Given the description of an element on the screen output the (x, y) to click on. 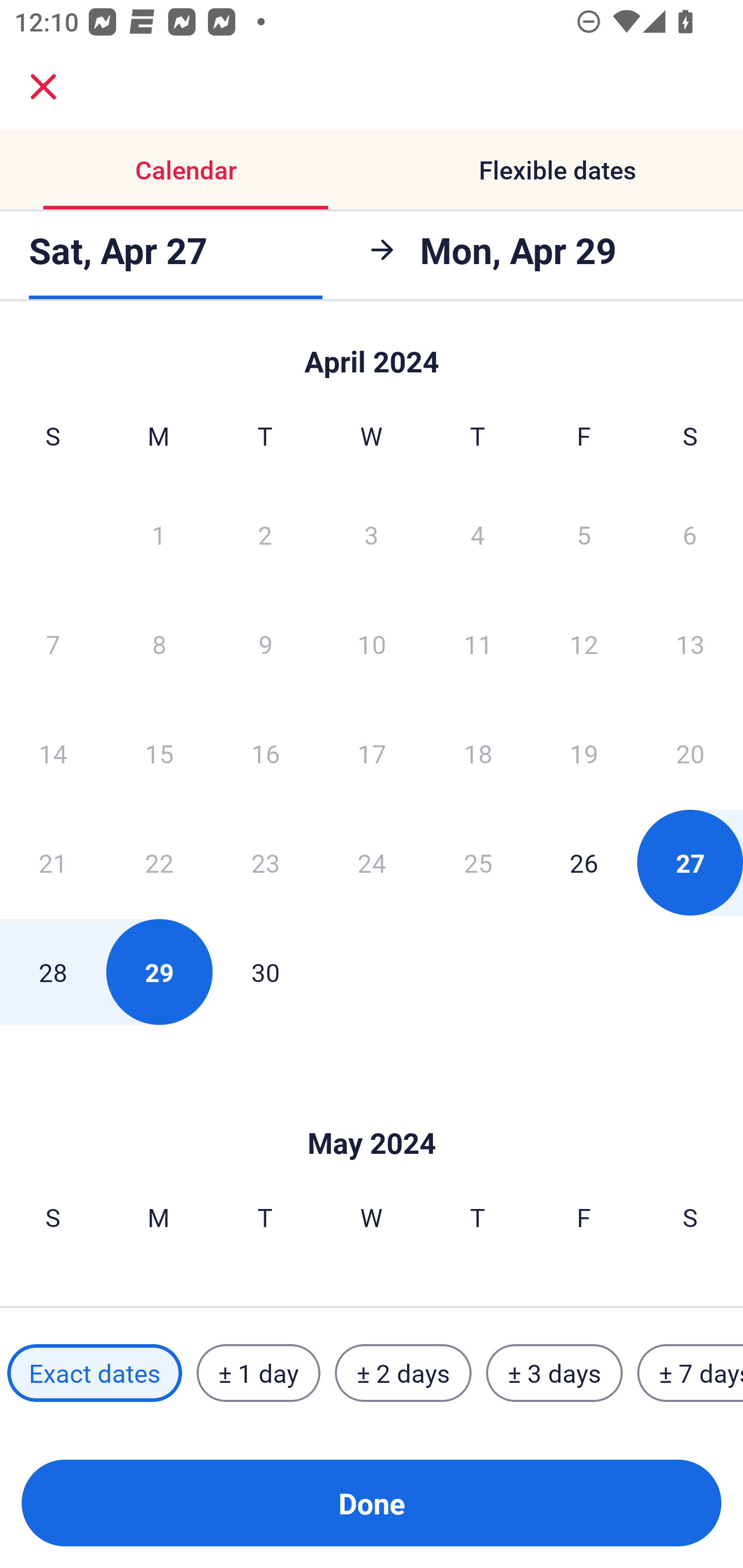
close. (43, 86)
Flexible dates (557, 170)
Skip to Done (371, 352)
1 Monday, April 1, 2024 (158, 534)
2 Tuesday, April 2, 2024 (264, 534)
3 Wednesday, April 3, 2024 (371, 534)
4 Thursday, April 4, 2024 (477, 534)
5 Friday, April 5, 2024 (583, 534)
6 Saturday, April 6, 2024 (689, 534)
7 Sunday, April 7, 2024 (53, 643)
8 Monday, April 8, 2024 (159, 643)
9 Tuesday, April 9, 2024 (265, 643)
10 Wednesday, April 10, 2024 (371, 643)
11 Thursday, April 11, 2024 (477, 643)
12 Friday, April 12, 2024 (584, 643)
13 Saturday, April 13, 2024 (690, 643)
14 Sunday, April 14, 2024 (53, 752)
15 Monday, April 15, 2024 (159, 752)
16 Tuesday, April 16, 2024 (265, 752)
17 Wednesday, April 17, 2024 (371, 752)
18 Thursday, April 18, 2024 (477, 752)
19 Friday, April 19, 2024 (584, 752)
20 Saturday, April 20, 2024 (690, 752)
21 Sunday, April 21, 2024 (53, 862)
22 Monday, April 22, 2024 (159, 862)
23 Tuesday, April 23, 2024 (265, 862)
24 Wednesday, April 24, 2024 (371, 862)
25 Thursday, April 25, 2024 (477, 862)
26 Friday, April 26, 2024 (584, 862)
30 Tuesday, April 30, 2024 (265, 971)
Skip to Done (371, 1112)
Exact dates (94, 1372)
± 1 day (258, 1372)
± 2 days (403, 1372)
± 3 days (553, 1372)
± 7 days (690, 1372)
Done (371, 1502)
